Given the description of an element on the screen output the (x, y) to click on. 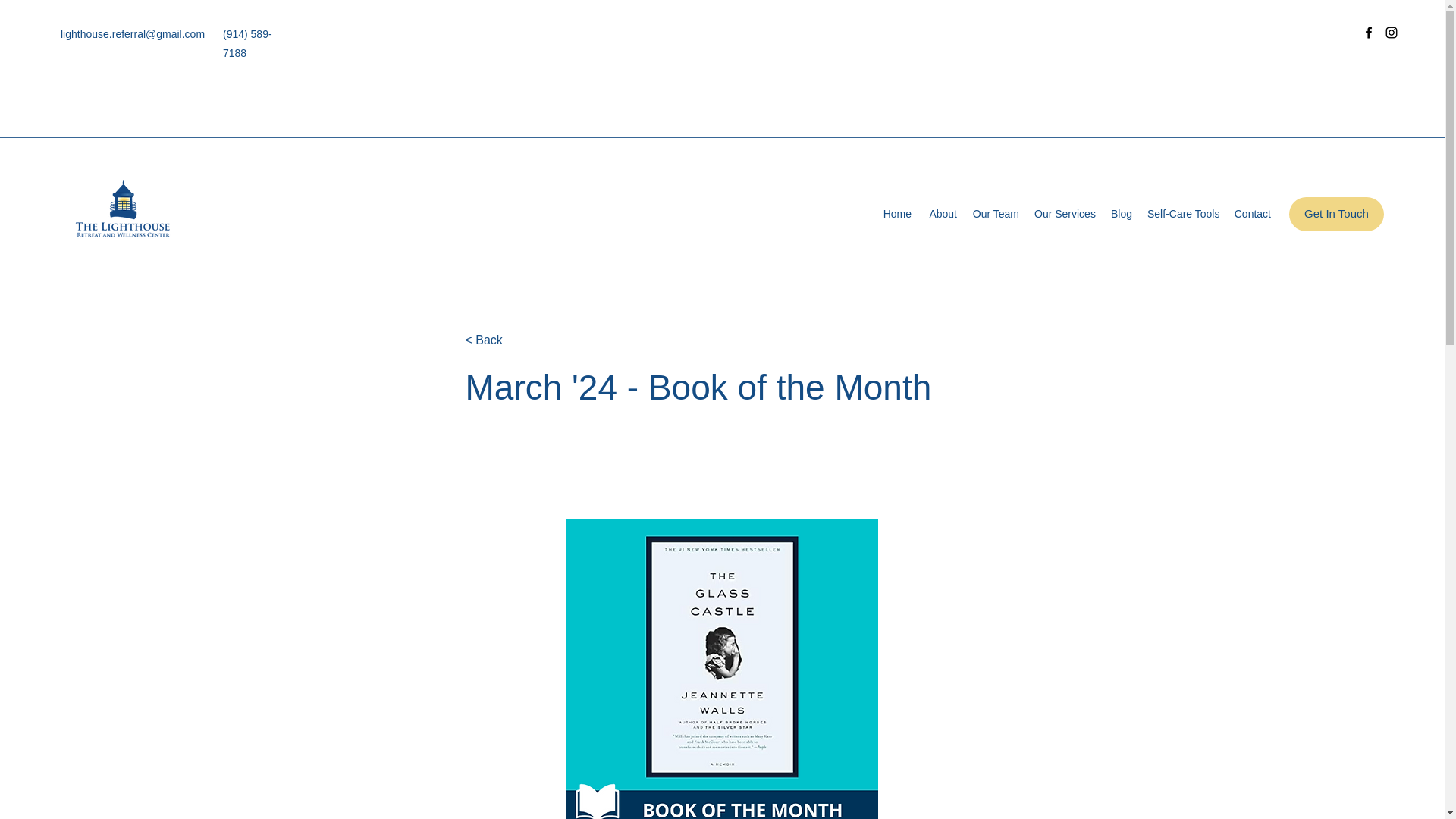
Blog (1121, 213)
About (940, 213)
Our Services (1064, 213)
Get In Touch (1336, 213)
Contact (1251, 213)
Our Team (994, 213)
Self-Care Tools (1182, 213)
Home (896, 213)
